Given the description of an element on the screen output the (x, y) to click on. 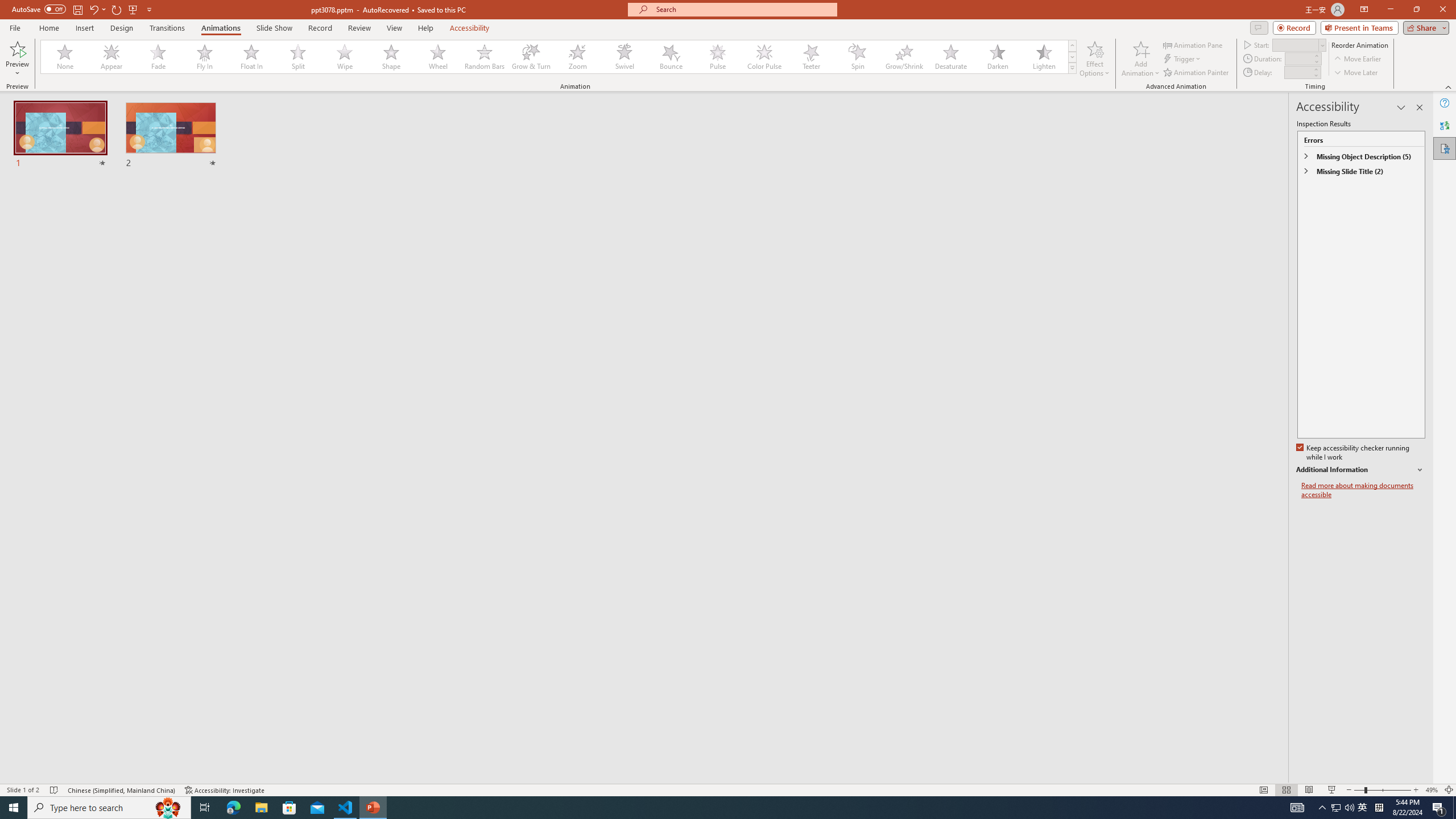
Grow & Turn (531, 56)
AutomationID: AnimationGallery (558, 56)
Pulse (717, 56)
